Given the description of an element on the screen output the (x, y) to click on. 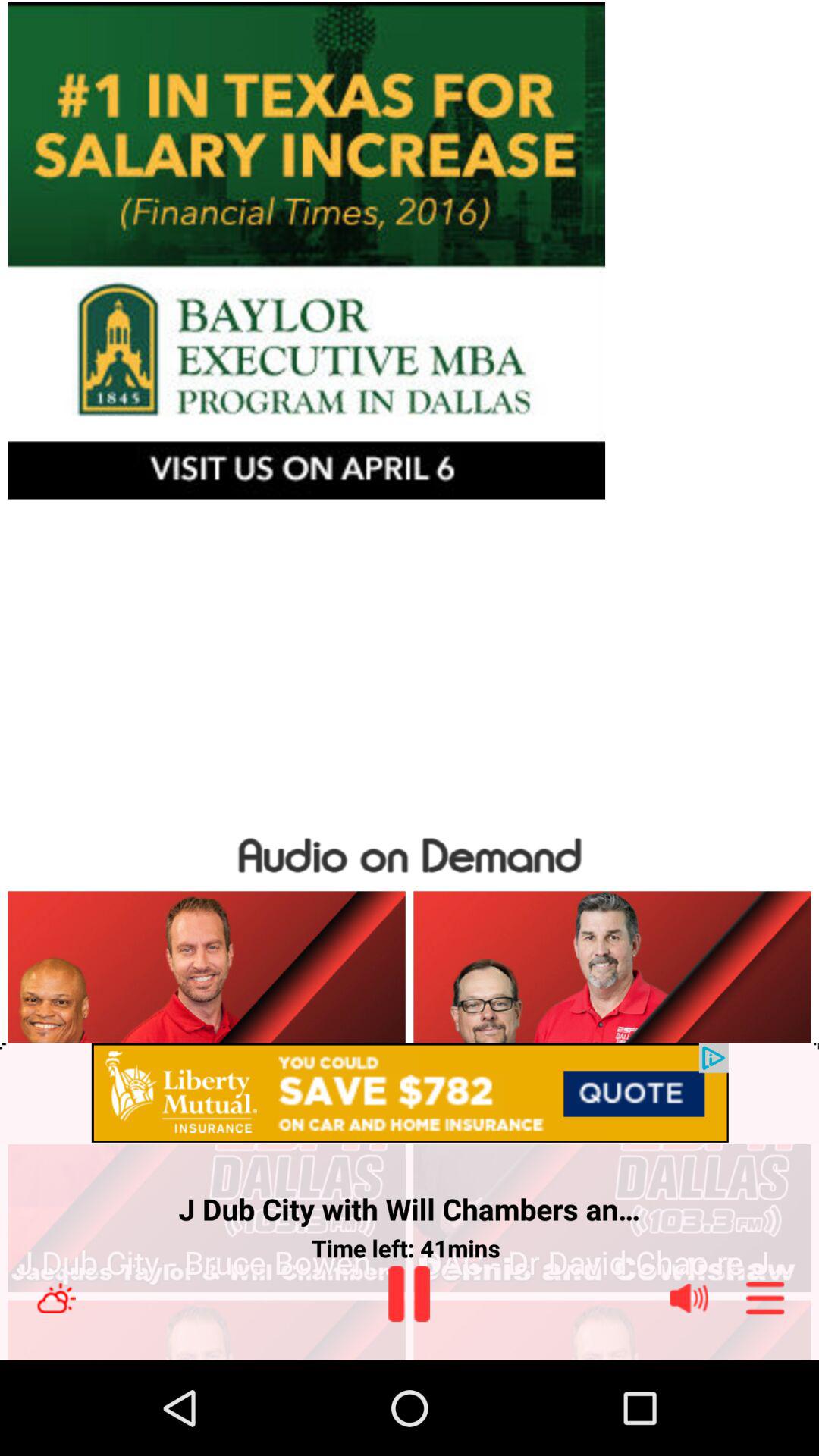
weather (56, 1298)
